Given the description of an element on the screen output the (x, y) to click on. 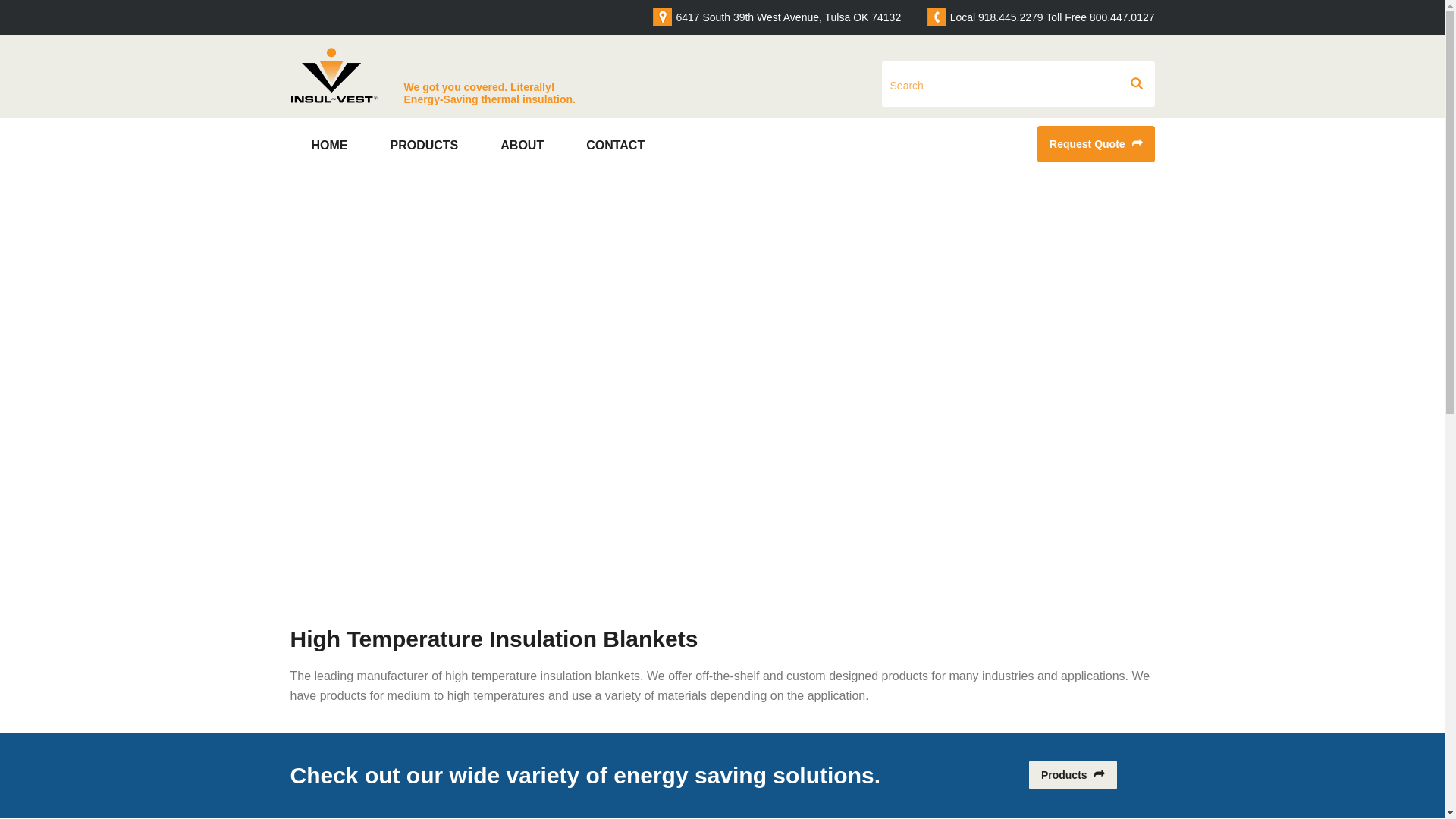
800.447.0127 (1121, 17)
HOME (329, 147)
Search (997, 85)
ABOUT (521, 147)
PRODUCTS (424, 147)
CONTACT (615, 147)
6417 South 39th West Avenue, Tulsa OK 74132 (788, 17)
Request Quote (1095, 143)
918.445.2279 (1010, 17)
